Given the description of an element on the screen output the (x, y) to click on. 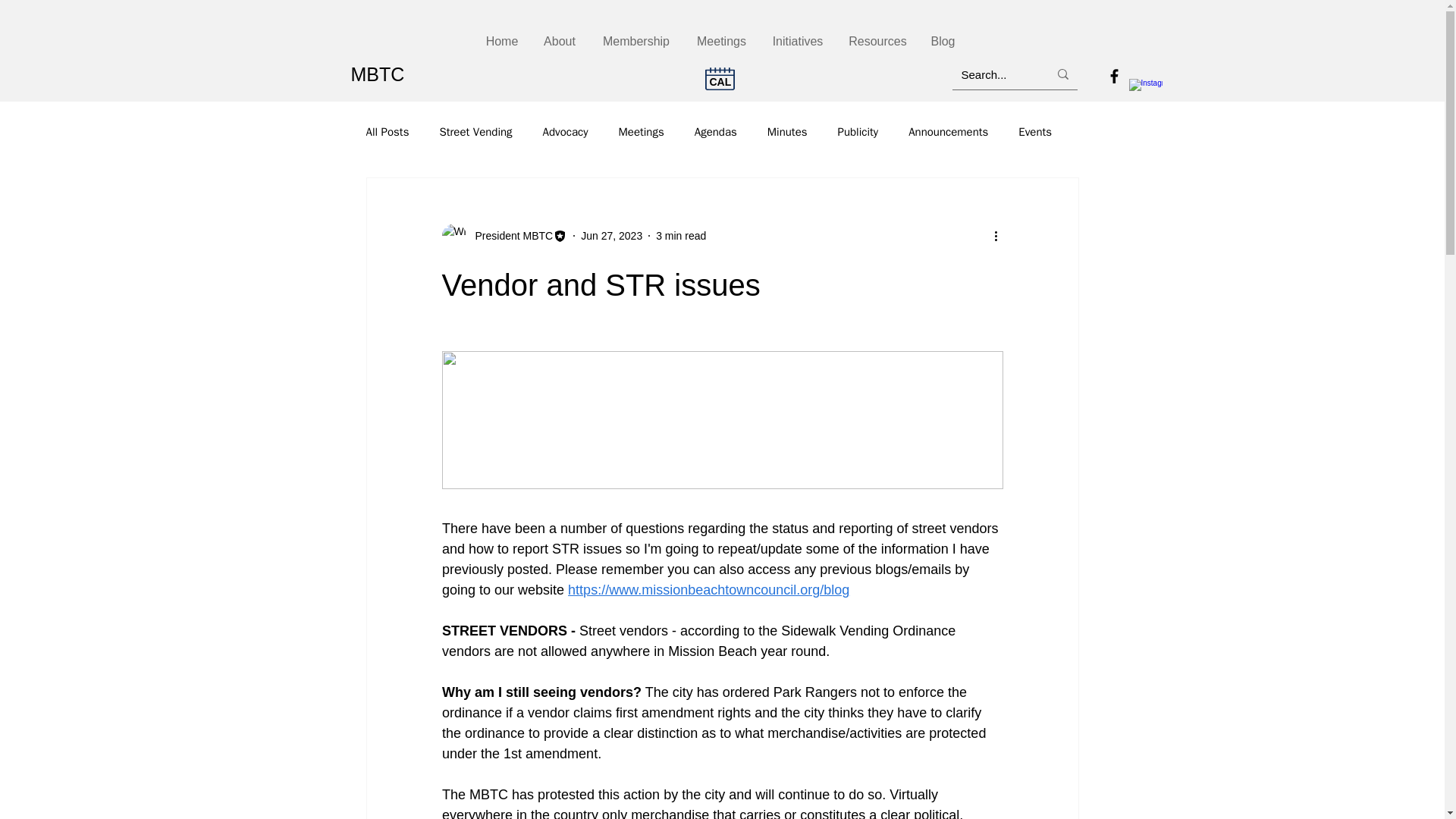
President MBTC (509, 235)
CAL (721, 81)
About (559, 40)
Home (502, 40)
Initiatives (796, 40)
3 min read (681, 234)
Blog (942, 40)
Jun 27, 2023 (611, 234)
MBTC (377, 74)
Meetings (721, 40)
Membership (636, 40)
